Given the description of an element on the screen output the (x, y) to click on. 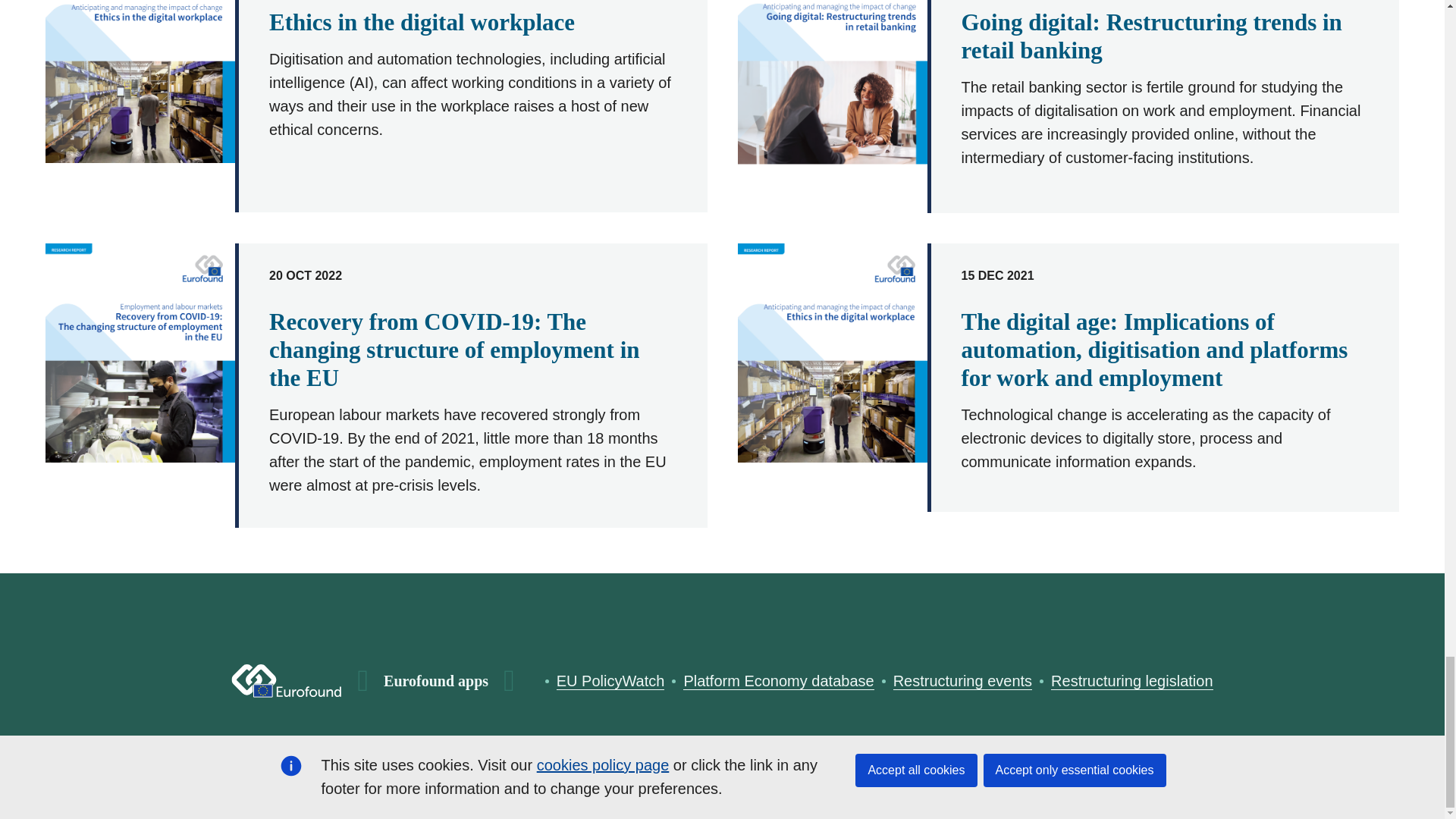
Ethics in the digital workplace (422, 22)
EU PolicyWatch (610, 681)
Eurofound (286, 680)
Platform Economy database (777, 681)
Restructuring events (962, 681)
Eurofound apps (435, 680)
Going digital: Restructuring trends in retail banking (1151, 36)
Restructuring legislation (1131, 681)
